Given the description of an element on the screen output the (x, y) to click on. 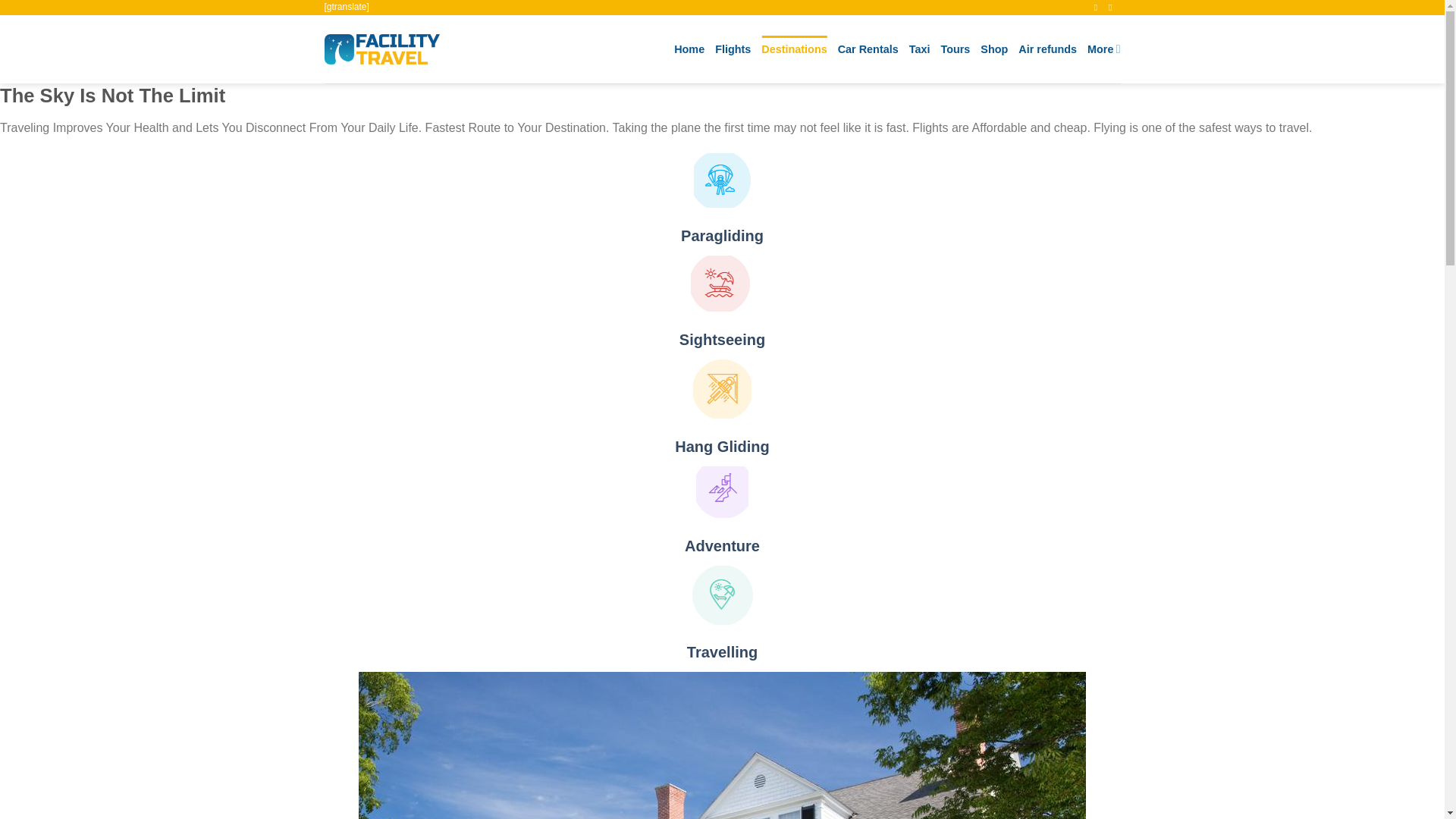
Facility Travel -  Travel to live your best life (381, 48)
Shop (993, 49)
Car Rentals (868, 49)
Hang Gliding (721, 446)
Air refunds (1047, 49)
Travelling (722, 651)
Tours (954, 49)
Flights (732, 49)
Sightseeing (722, 339)
More (1103, 48)
